Given the description of an element on the screen output the (x, y) to click on. 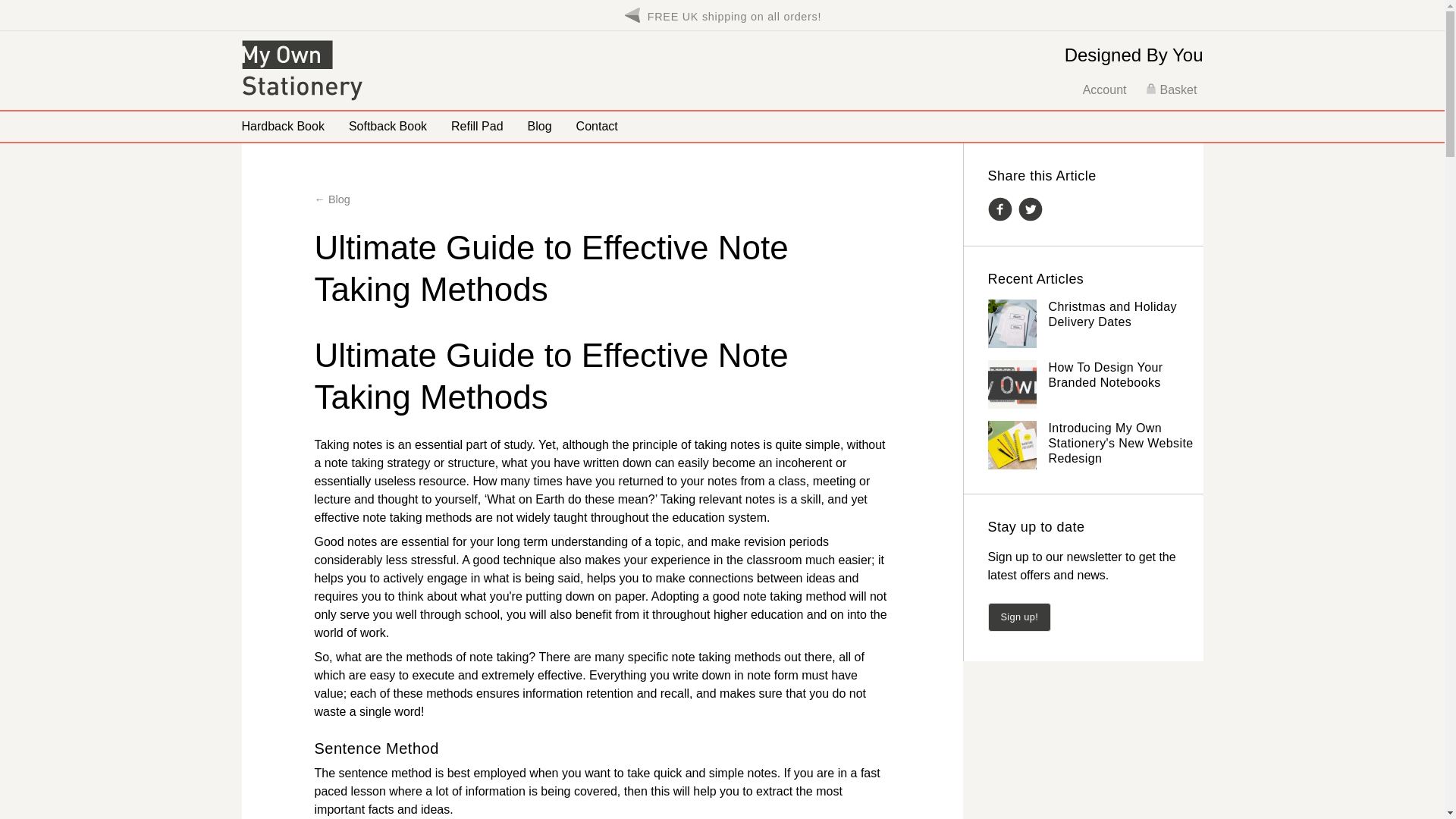
Hardback Book (282, 126)
Account (1104, 89)
Introducing My Own Stationery's New Website Redesign (1120, 443)
Softback Book (387, 126)
Christmas and Holiday Delivery Dates (1112, 314)
Refill Pad (477, 126)
How To Design Your Branded Notebooks (1104, 375)
Contact (597, 126)
Sign up! (1019, 616)
Blog (539, 126)
Basket (1170, 90)
